Given the description of an element on the screen output the (x, y) to click on. 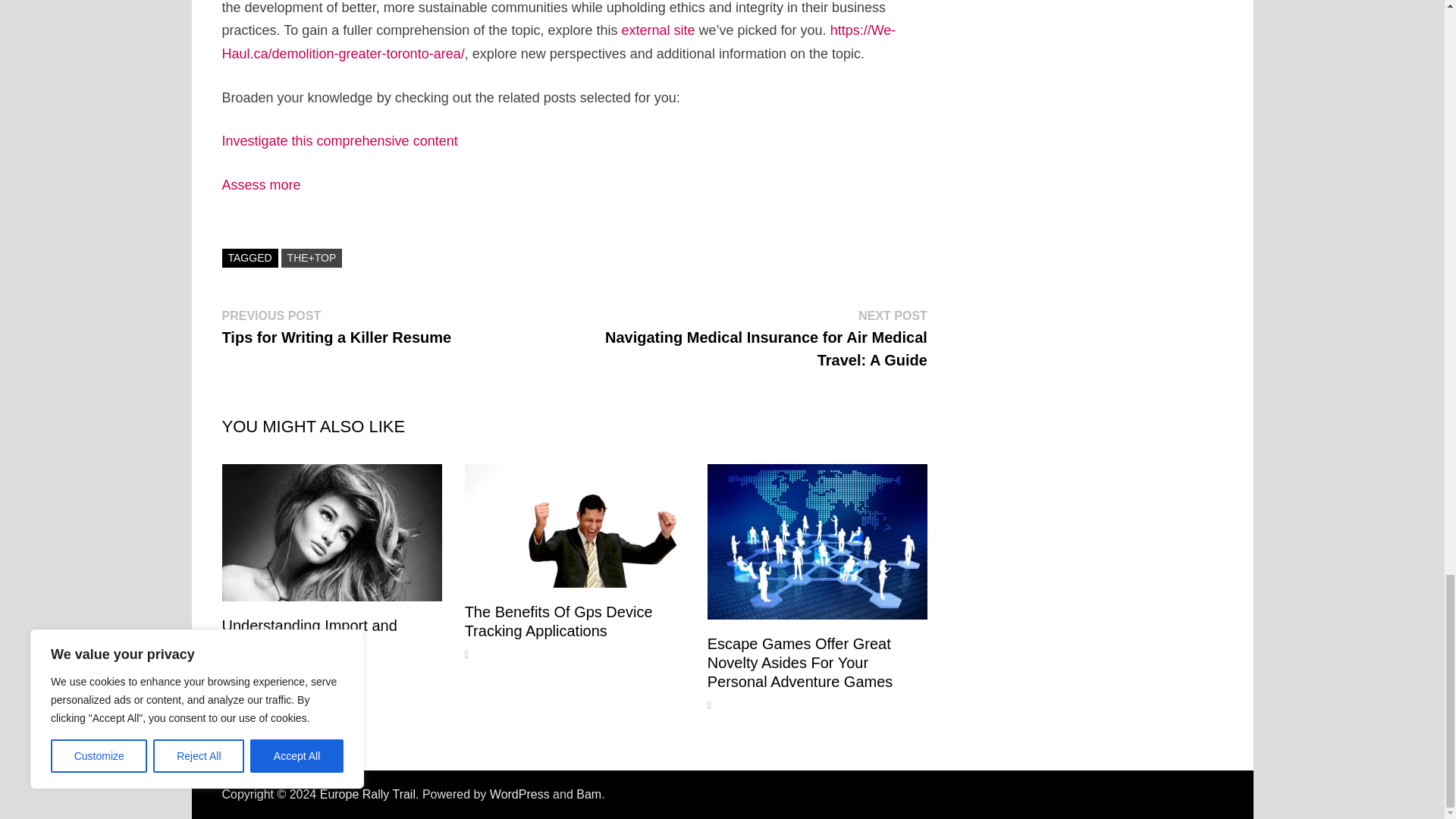
Understanding Import and Export Guidelines (308, 634)
Assess more (260, 184)
Understanding Import and Export Guidelines (308, 634)
external site (657, 29)
Europe Rally Trail (367, 793)
The Benefits Of Gps Device Tracking Applications (558, 621)
Investigate this comprehensive content (339, 140)
